Given the description of an element on the screen output the (x, y) to click on. 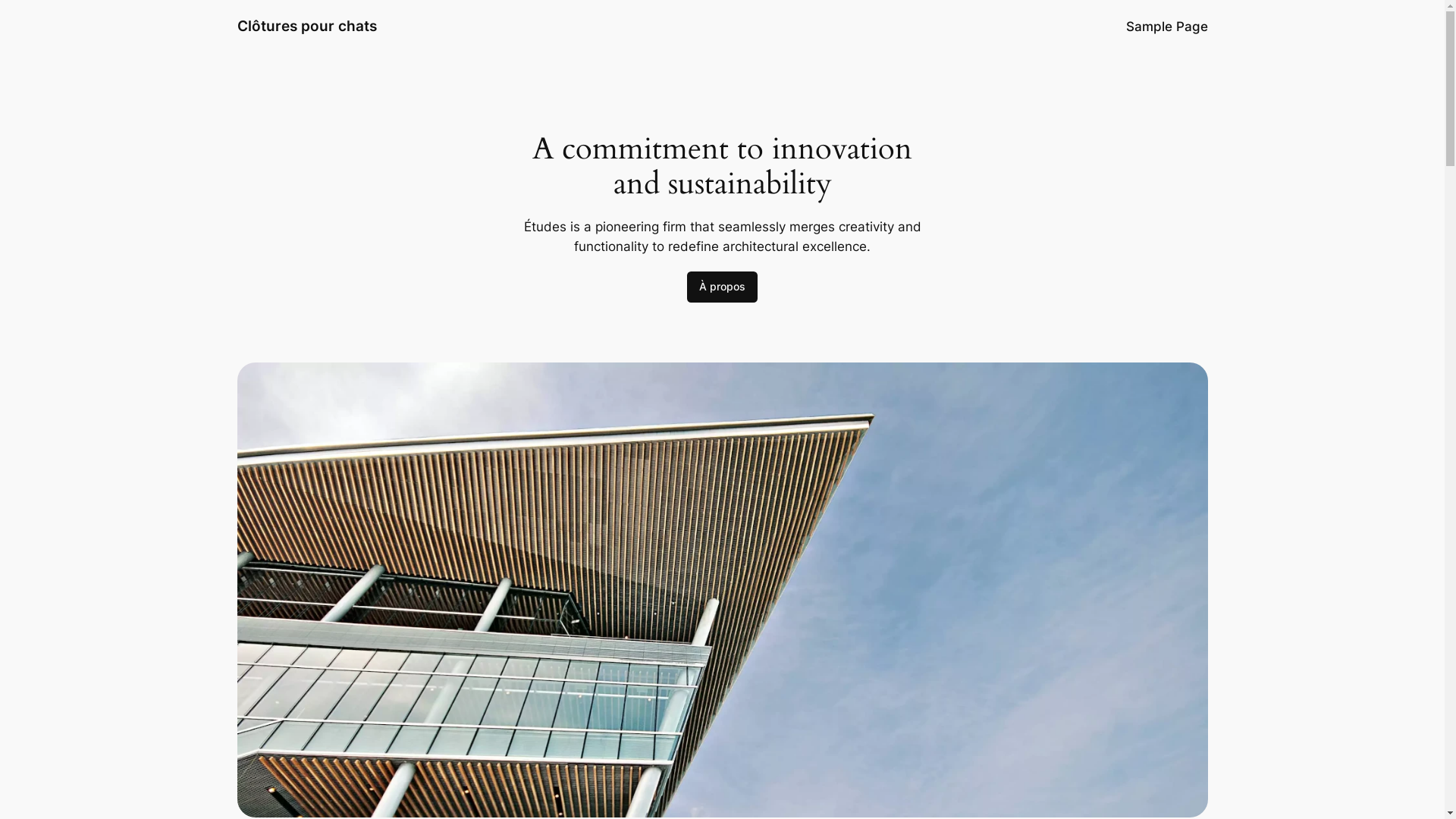
Sample Page Element type: text (1166, 26)
